Given the description of an element on the screen output the (x, y) to click on. 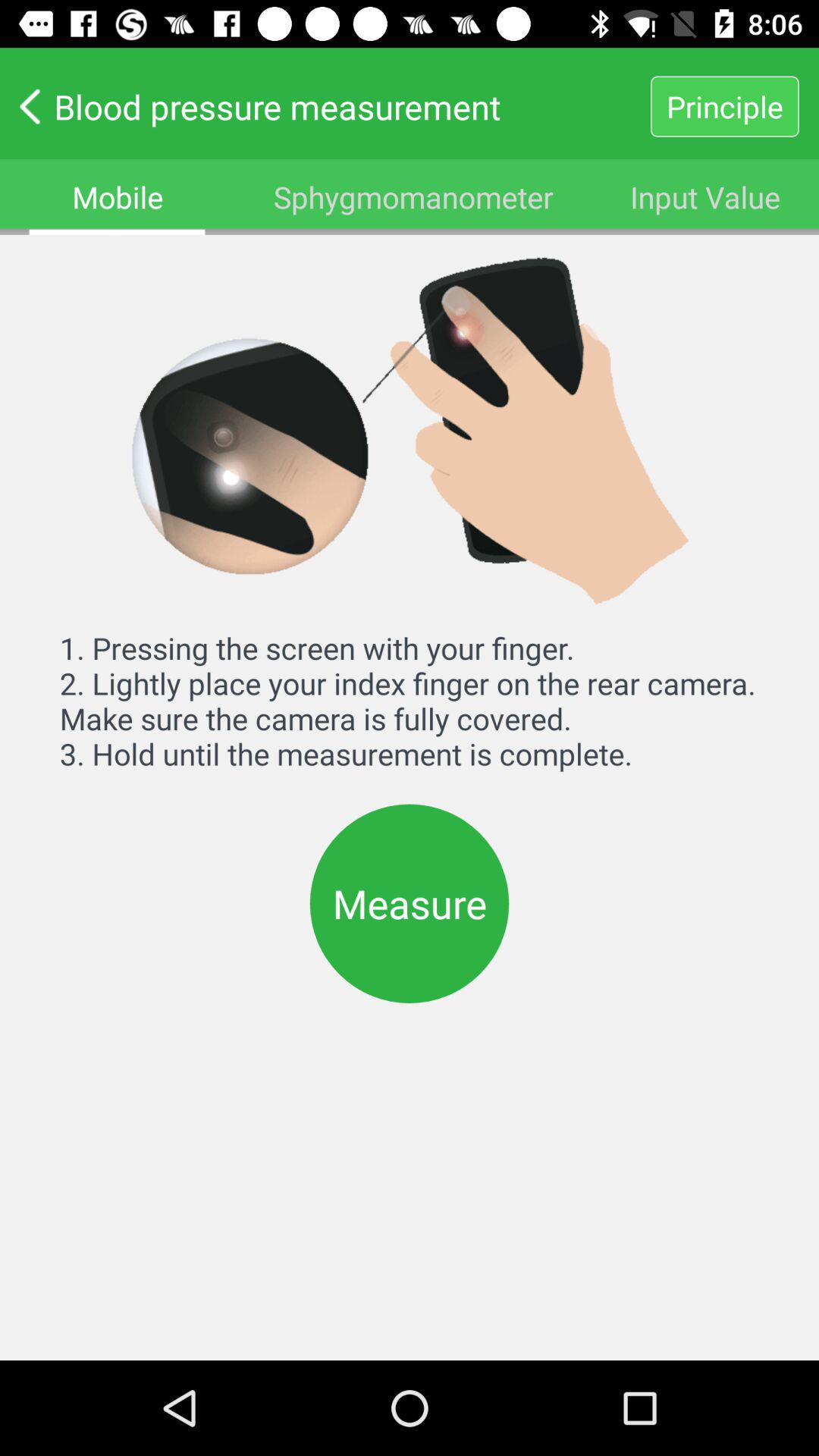
choose the sphygmomanometer (413, 196)
